Given the description of an element on the screen output the (x, y) to click on. 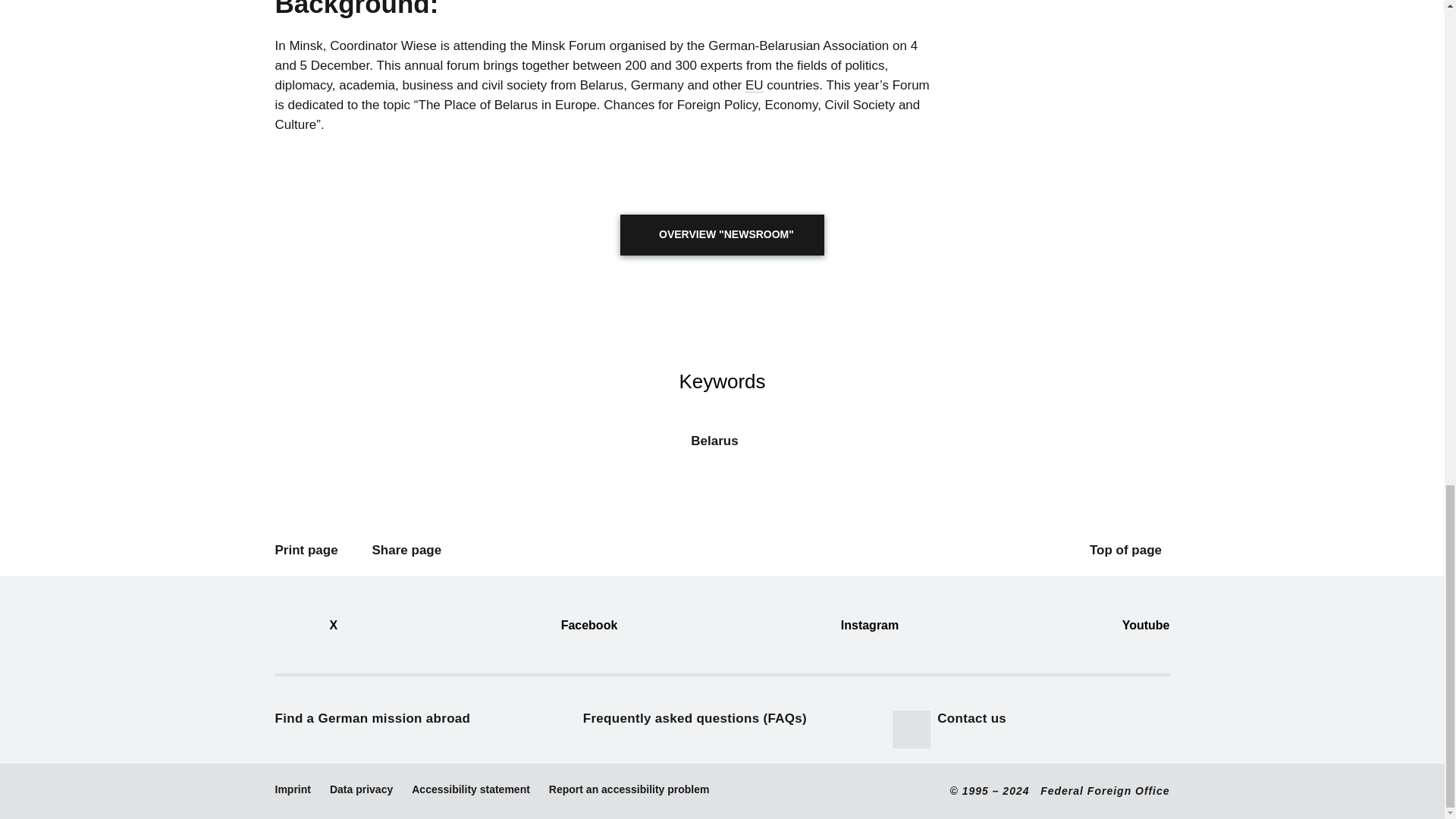
Overview Newsroom (722, 234)
European Union (753, 84)
Print page (310, 550)
Belarus (722, 449)
